Given the description of an element on the screen output the (x, y) to click on. 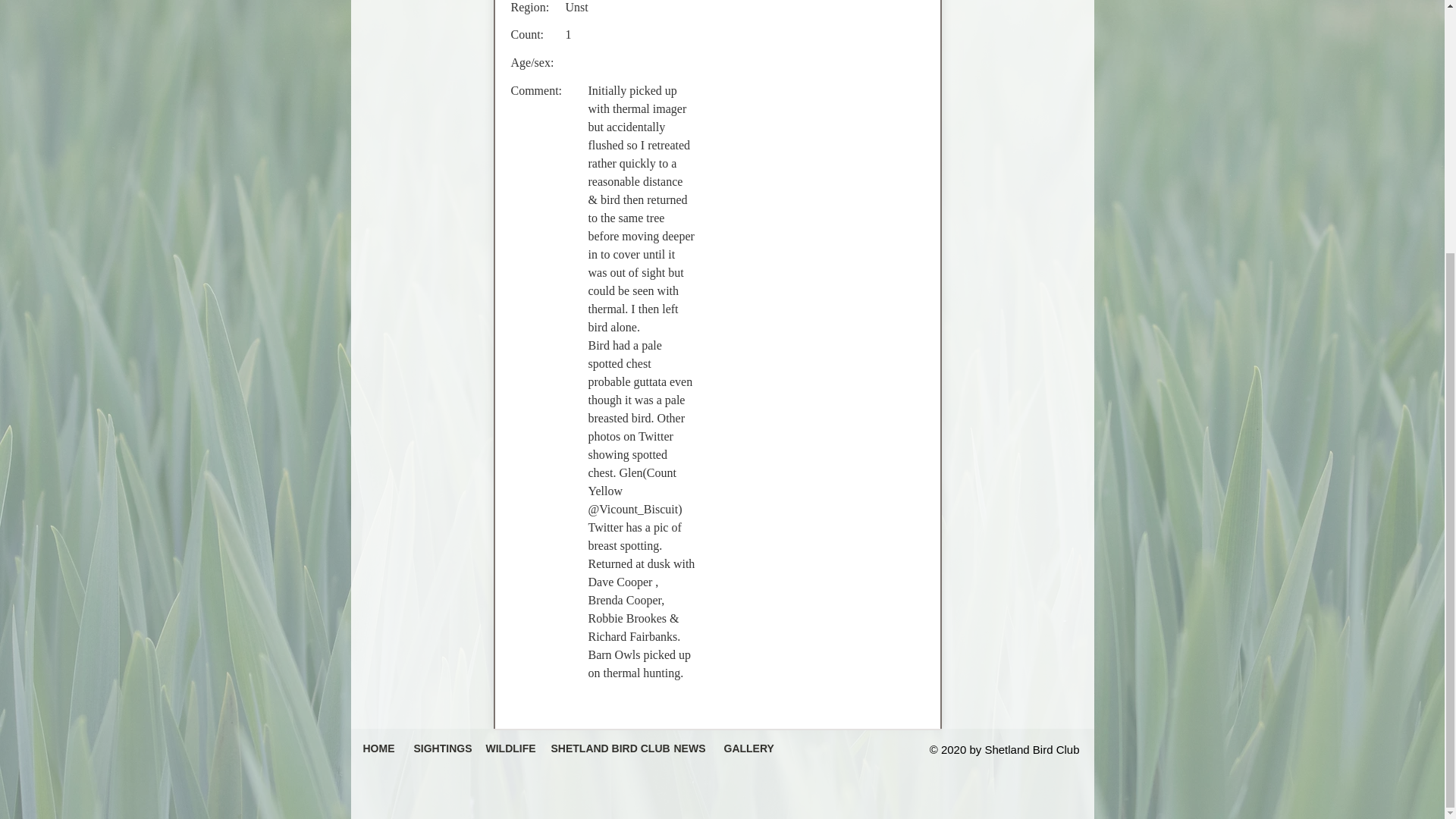
NEWS (687, 747)
HOME (377, 747)
GALLERY (745, 747)
